Given the description of an element on the screen output the (x, y) to click on. 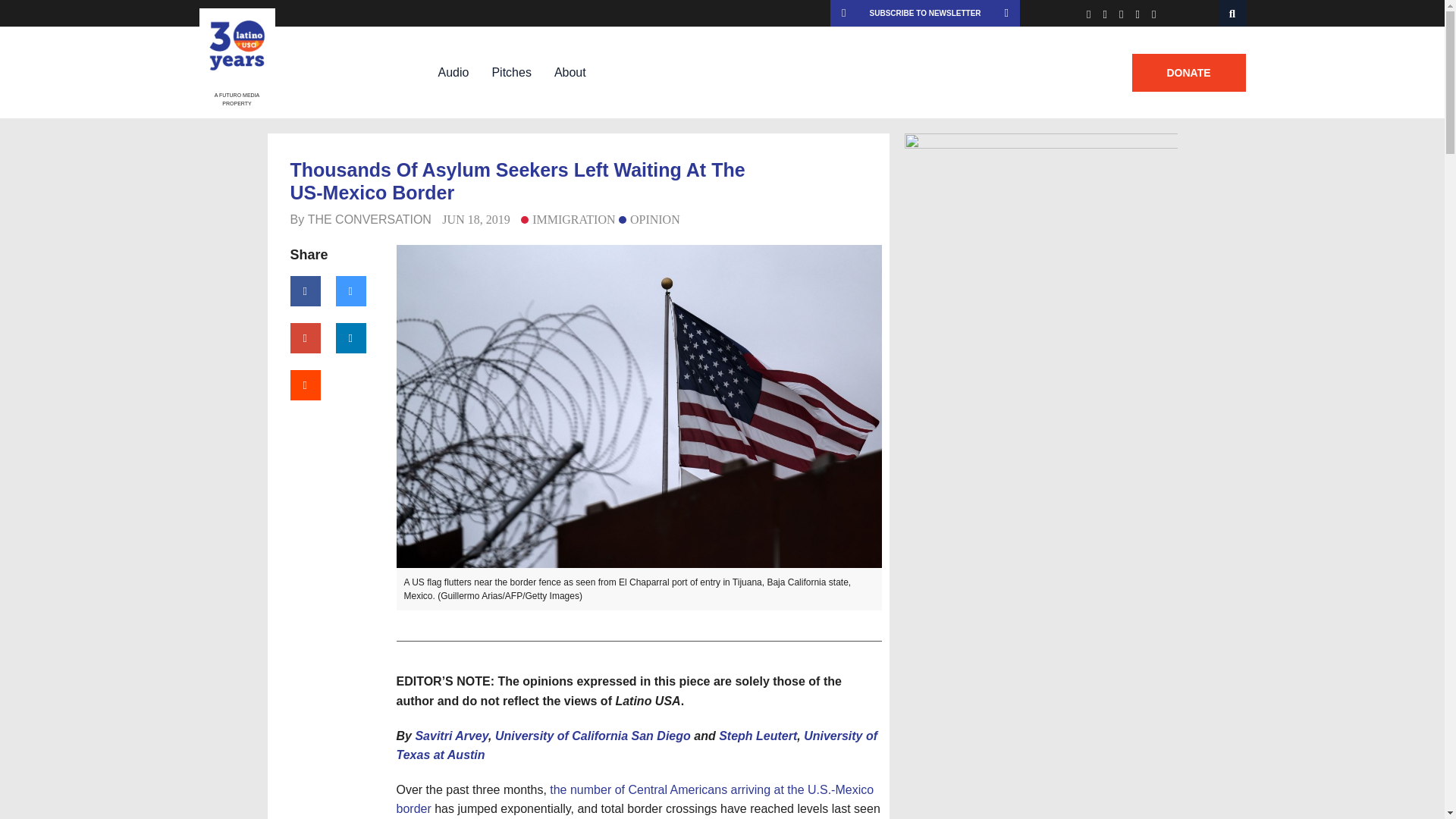
IMMIGRATION (567, 219)
Subscribe to newsletter (924, 13)
University of Texas at Austin (636, 745)
Search (1233, 13)
University of California San Diego (592, 735)
Search (1233, 13)
Steph Leutert (757, 735)
Search (1233, 13)
DONATE (1187, 72)
THE CONVERSATION (368, 219)
Savitri Arvey (450, 735)
OPINION (648, 219)
